Given the description of an element on the screen output the (x, y) to click on. 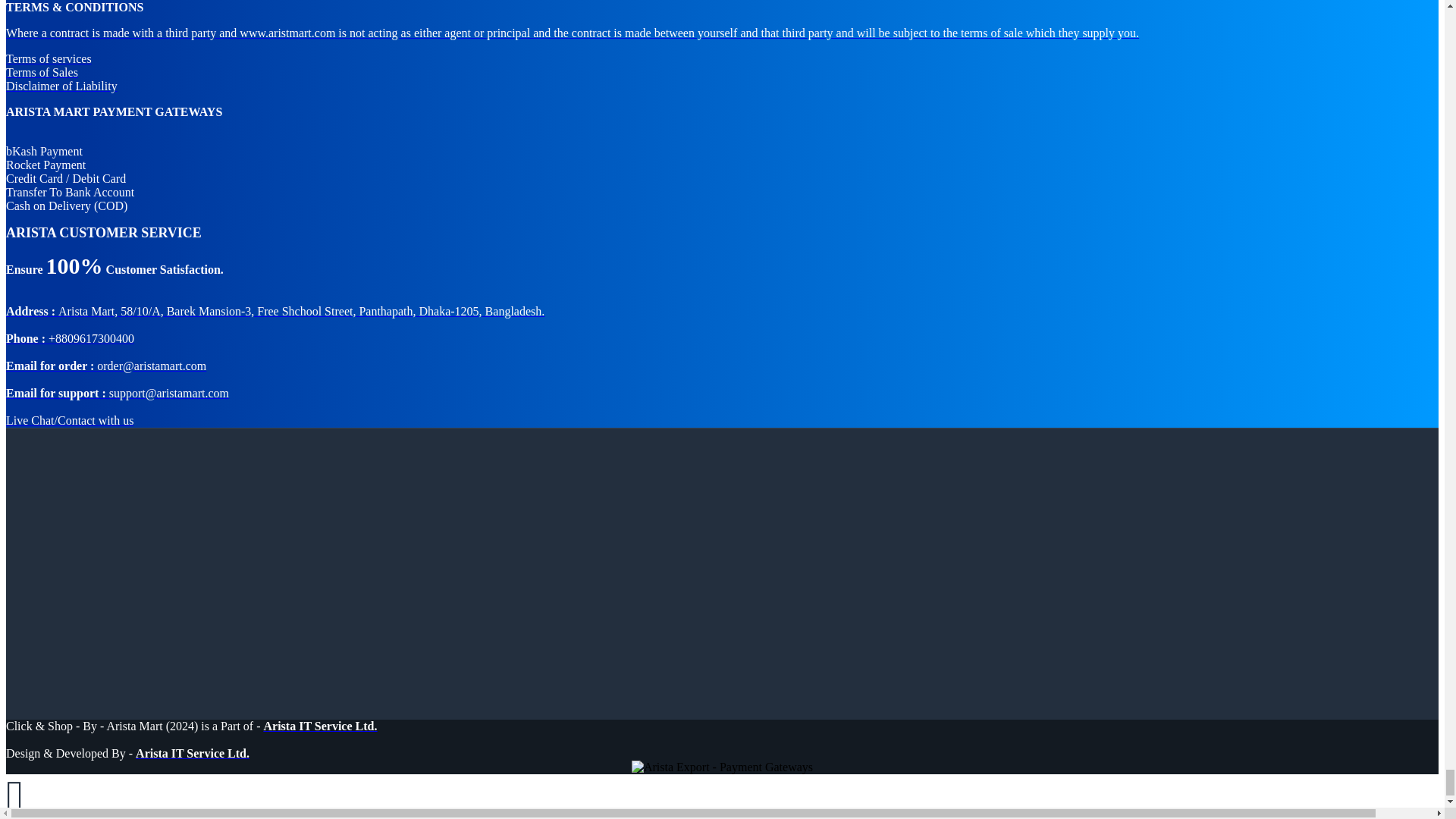
Arista Mart (320, 725)
Arista Mart (191, 753)
